Given the description of an element on the screen output the (x, y) to click on. 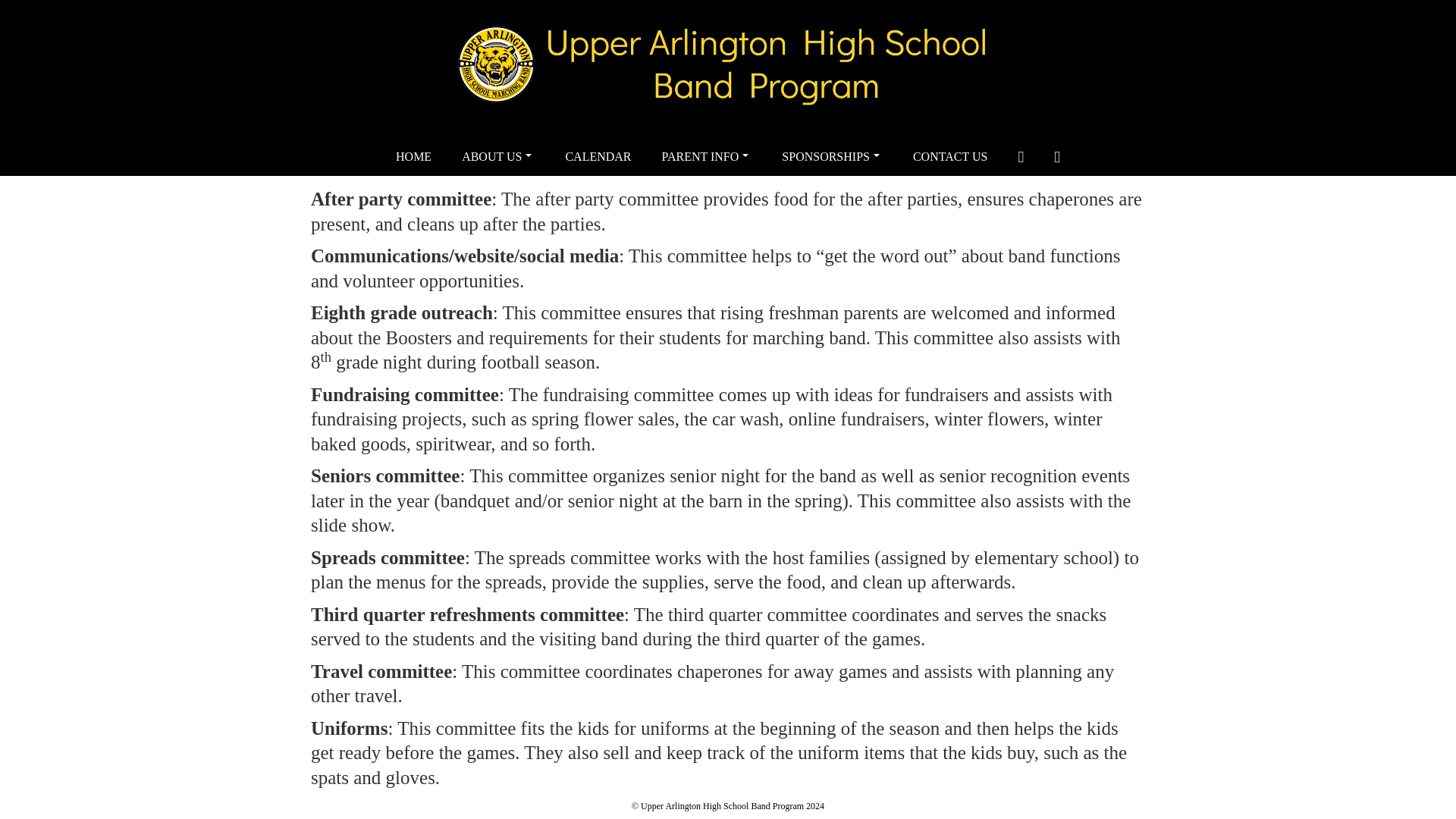
IG (1057, 157)
HOME (413, 157)
CONTACT US (950, 157)
ABOUT US (498, 157)
CALENDAR (598, 157)
PARENT INFO (706, 157)
SPONSORSHIPS (832, 157)
FACEBOOK (1021, 157)
